Given the description of an element on the screen output the (x, y) to click on. 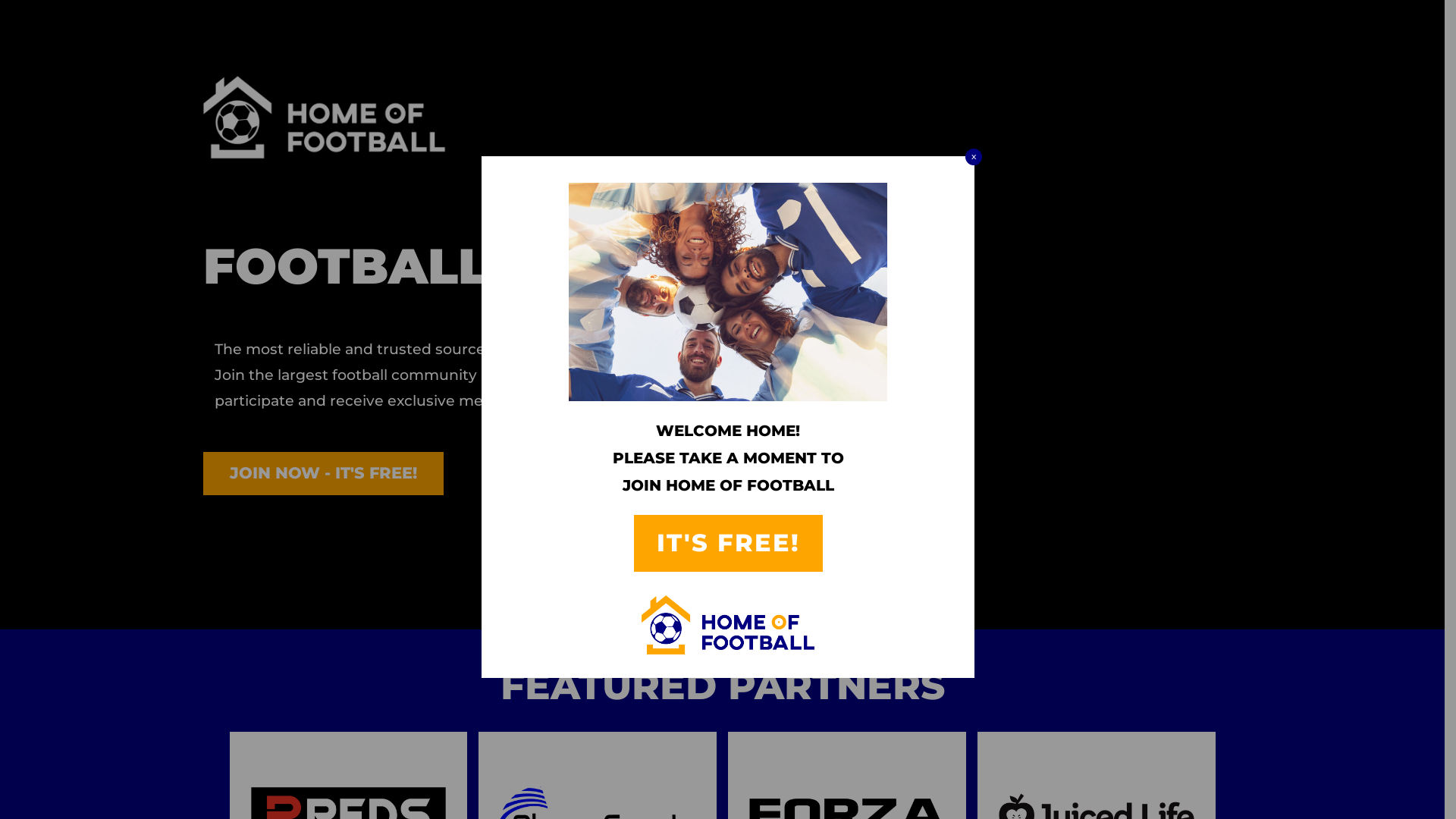
Join Home of Football Element type: hover (727, 290)
x Element type: text (973, 156)
IT'S FREE! Element type: text (727, 542)
JOIN NOW - IT'S FREE! Element type: text (323, 473)
Home of Football Element type: hover (323, 117)
Home of Football Element type: hover (727, 624)
